Given the description of an element on the screen output the (x, y) to click on. 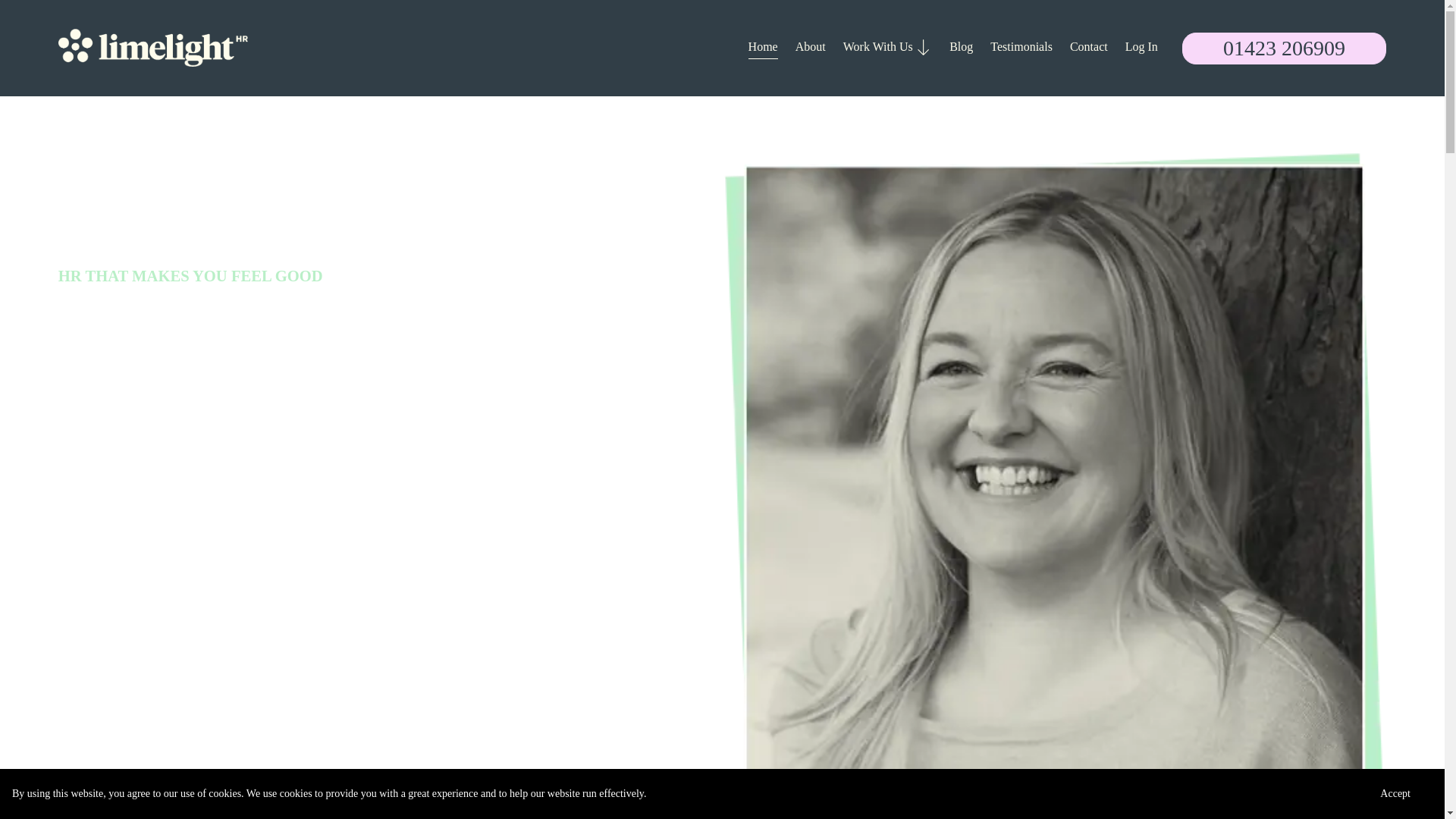
Blog (960, 47)
Testimonials (1021, 47)
About (809, 47)
Contact (1089, 47)
Work With Us (887, 47)
Accept (1395, 793)
01423 206909 (1284, 47)
Home (762, 47)
Log In (1141, 47)
